Given the description of an element on the screen output the (x, y) to click on. 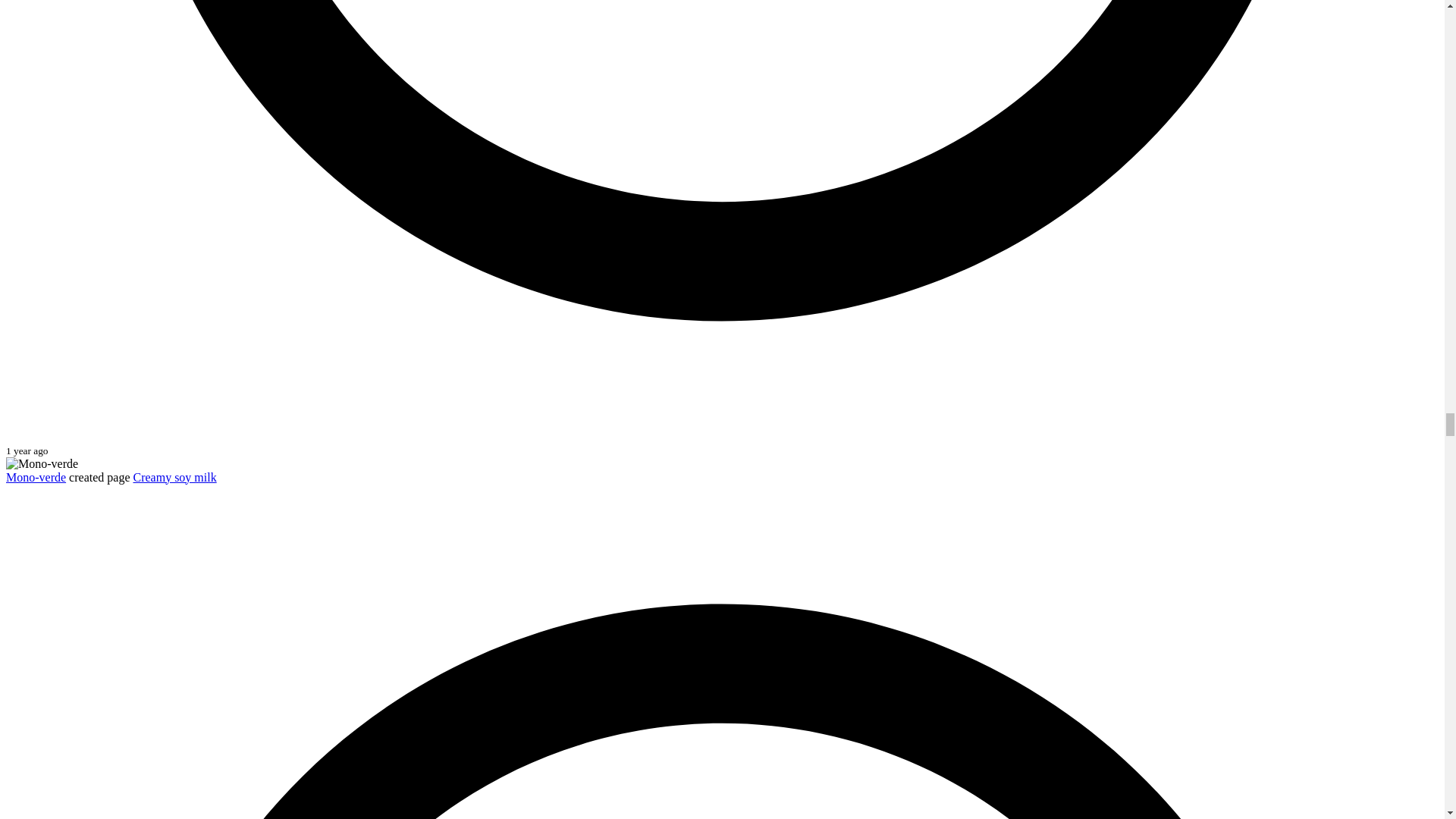
Mono-verde (35, 477)
Creamy soy milk (173, 477)
